Given the description of an element on the screen output the (x, y) to click on. 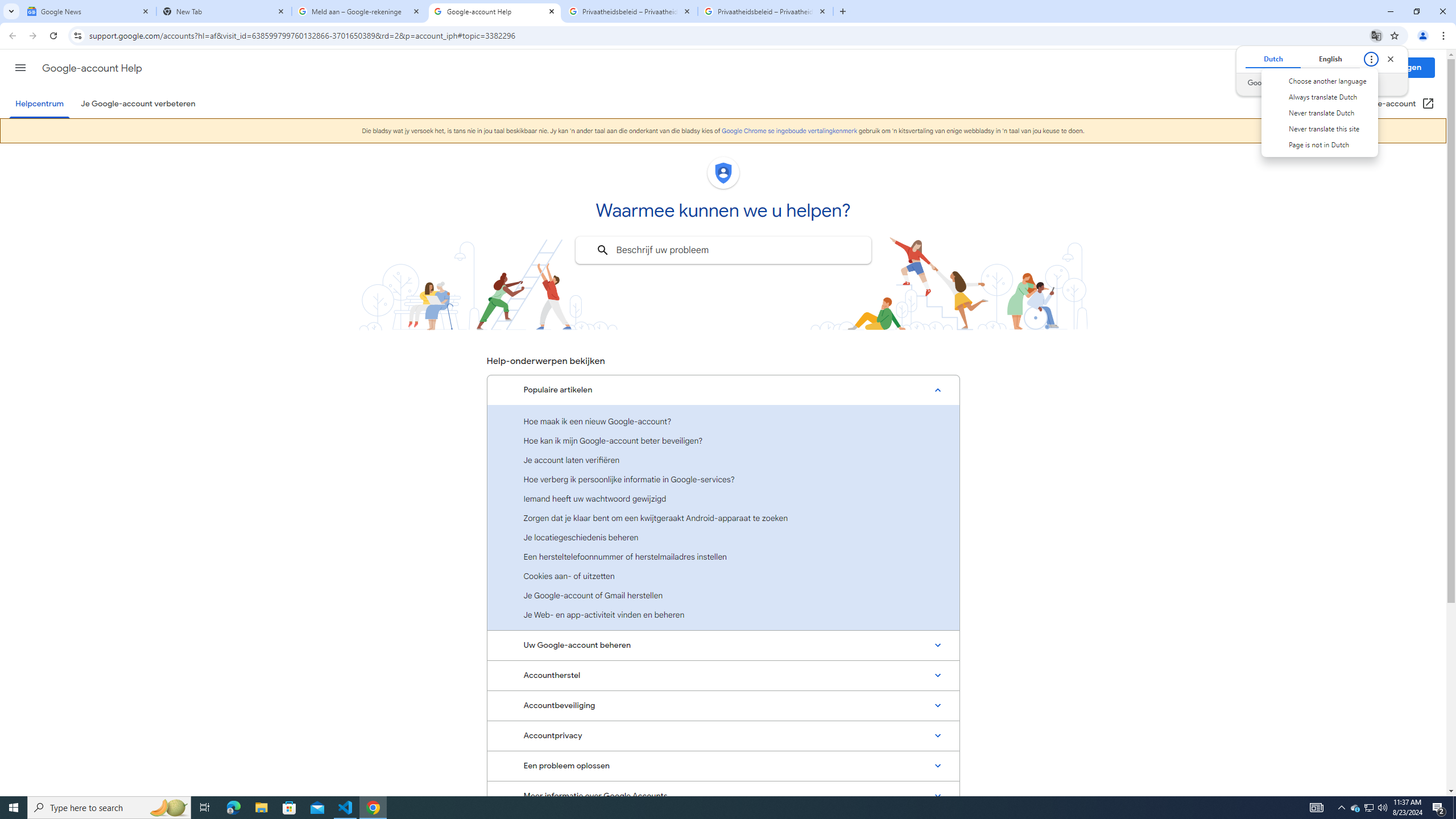
Dutch (1272, 58)
Hoe kan ik mijn Google-account beter beveiligen? (722, 440)
Een probleem oplossen (722, 765)
Hoe maak ik een nieuw Google-account? (722, 420)
Translate options (1370, 58)
English (1329, 58)
Show desktop (1454, 807)
